Given the description of an element on the screen output the (x, y) to click on. 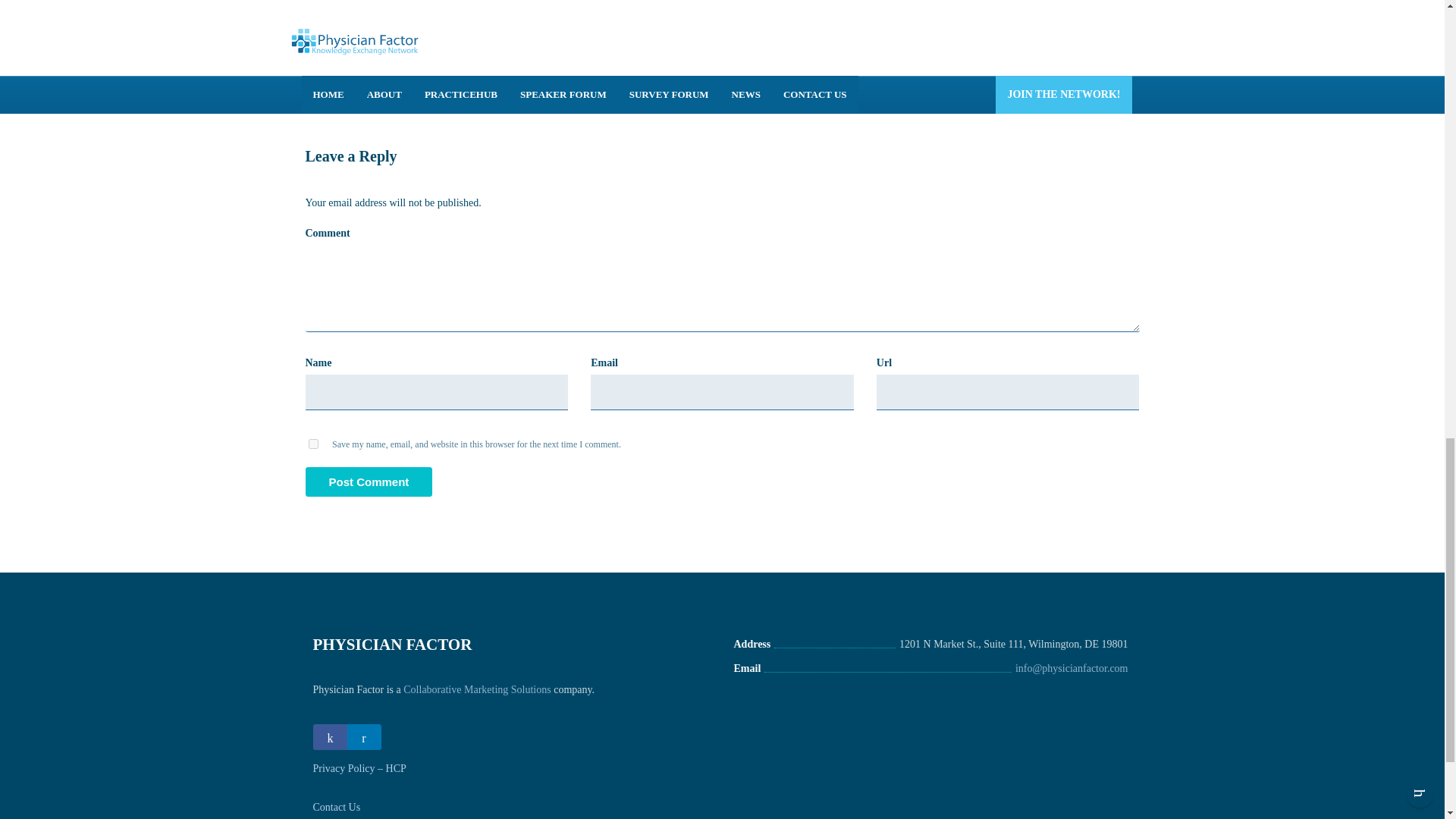
Post Comment (368, 481)
Collaborative Marketing Solutions (476, 689)
yes (312, 443)
Post Comment (368, 481)
